Given the description of an element on the screen output the (x, y) to click on. 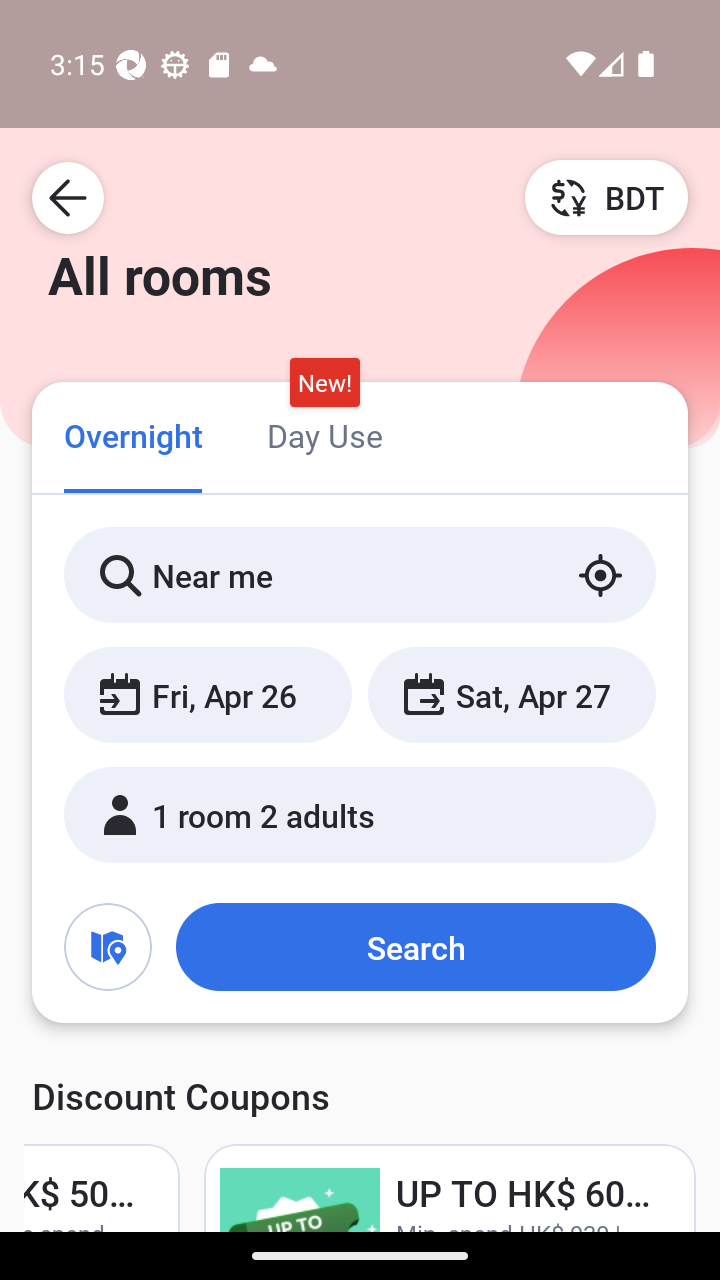
BDT (606, 197)
New! (324, 383)
Day Use (324, 434)
Near me (359, 575)
Fri, Apr 26 (208, 694)
Sat, Apr 27 (511, 694)
1 room 2 adults (359, 814)
Search (415, 946)
